Given the description of an element on the screen output the (x, y) to click on. 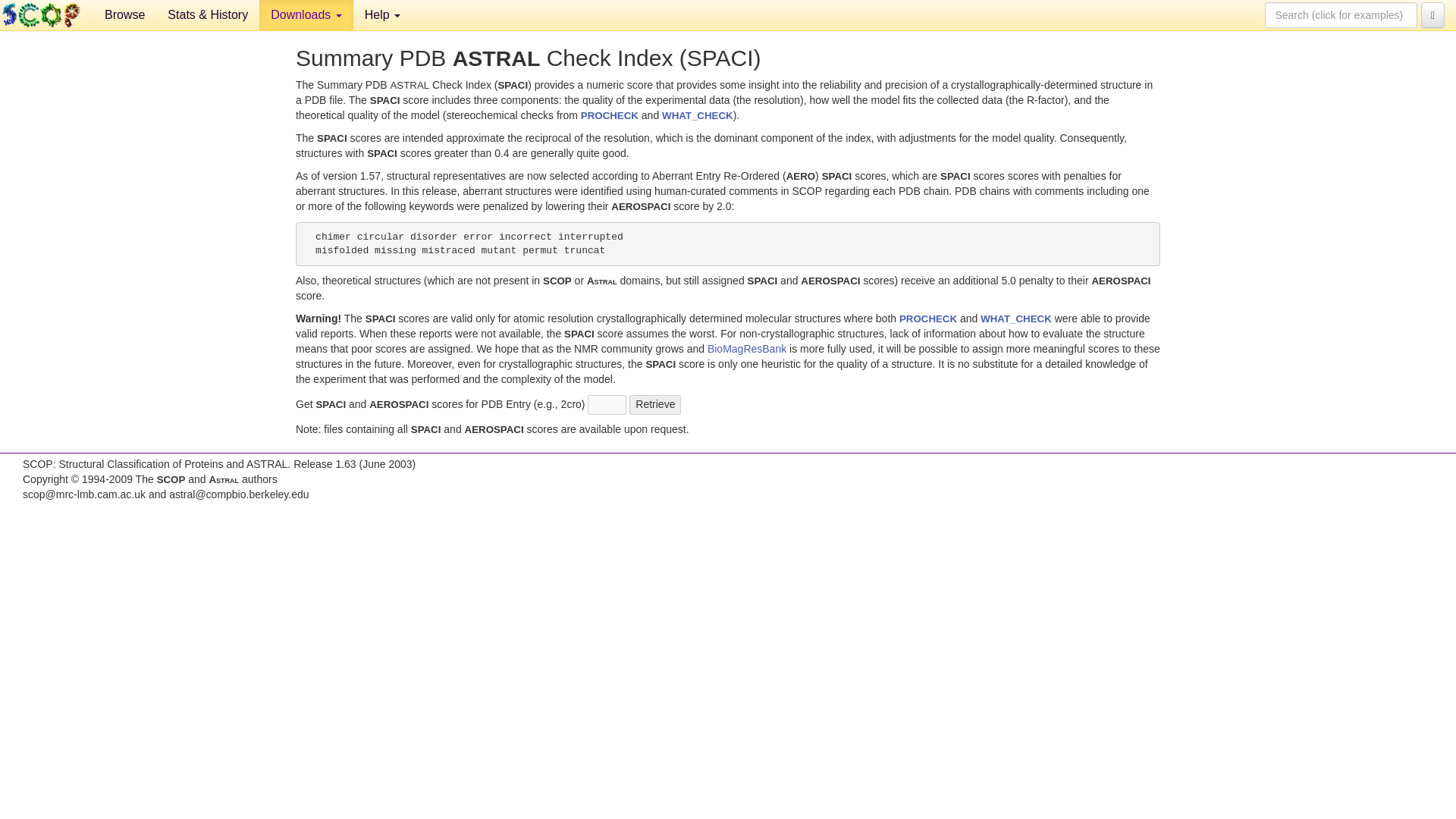
Help (382, 15)
PROCHECK (927, 318)
BioMagResBank (746, 348)
Downloads (306, 15)
Retrieve (654, 404)
Browse (124, 15)
Retrieve (654, 404)
PROCHECK (609, 114)
